Given the description of an element on the screen output the (x, y) to click on. 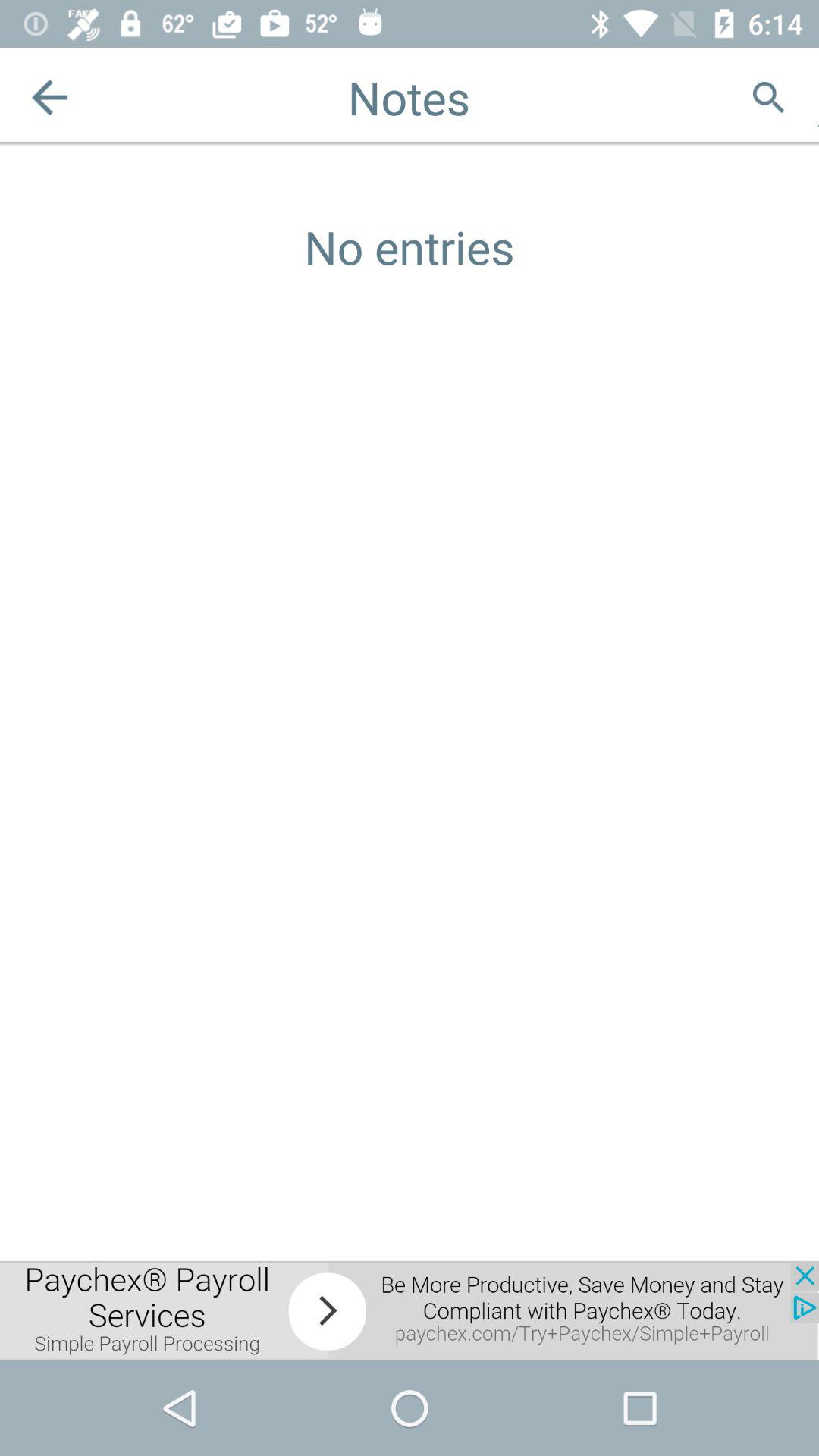
advertisement (409, 1310)
